Given the description of an element on the screen output the (x, y) to click on. 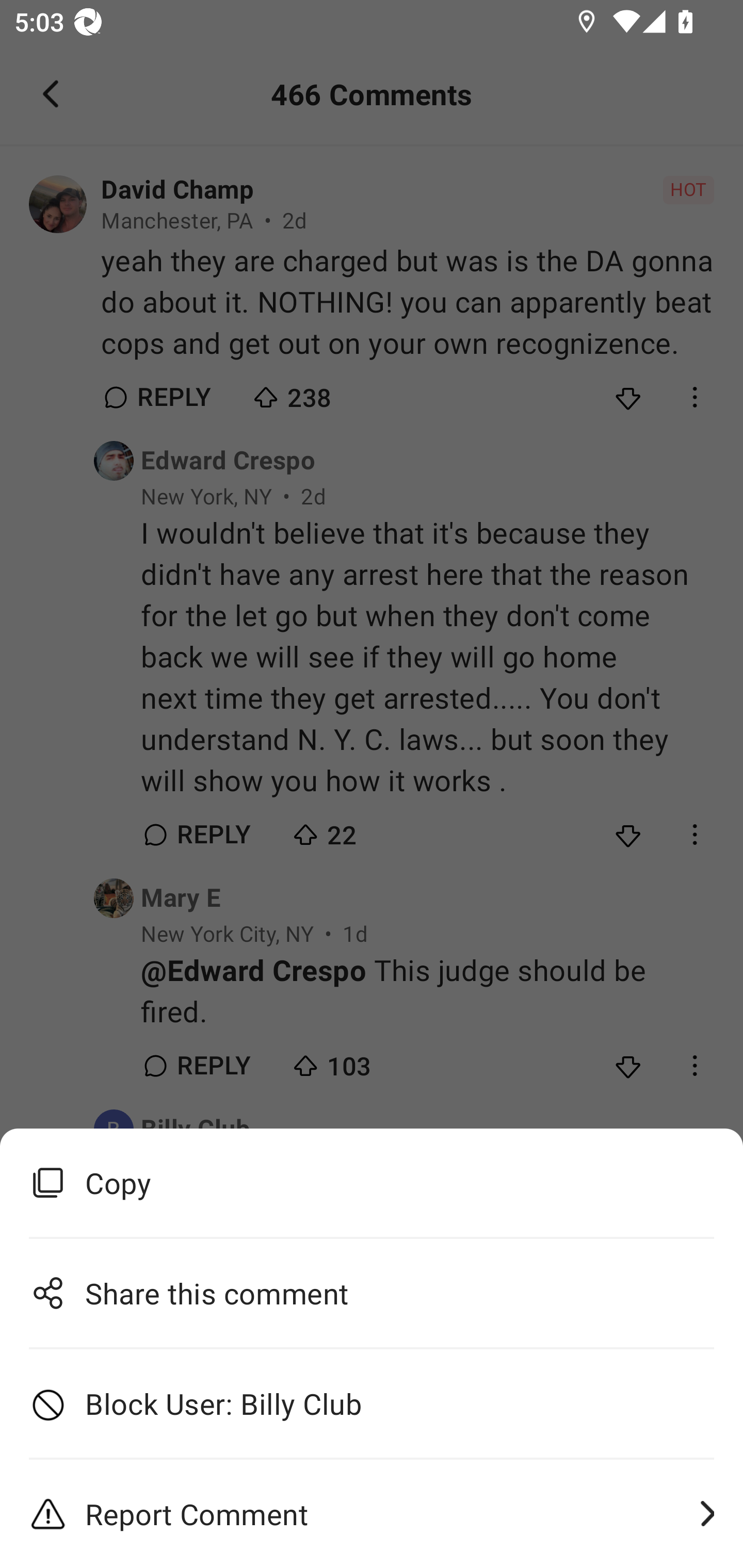
Copy (371, 1182)
Share this comment (371, 1292)
Block User: Billy Club (371, 1404)
Report Comment (371, 1513)
